Given the description of an element on the screen output the (x, y) to click on. 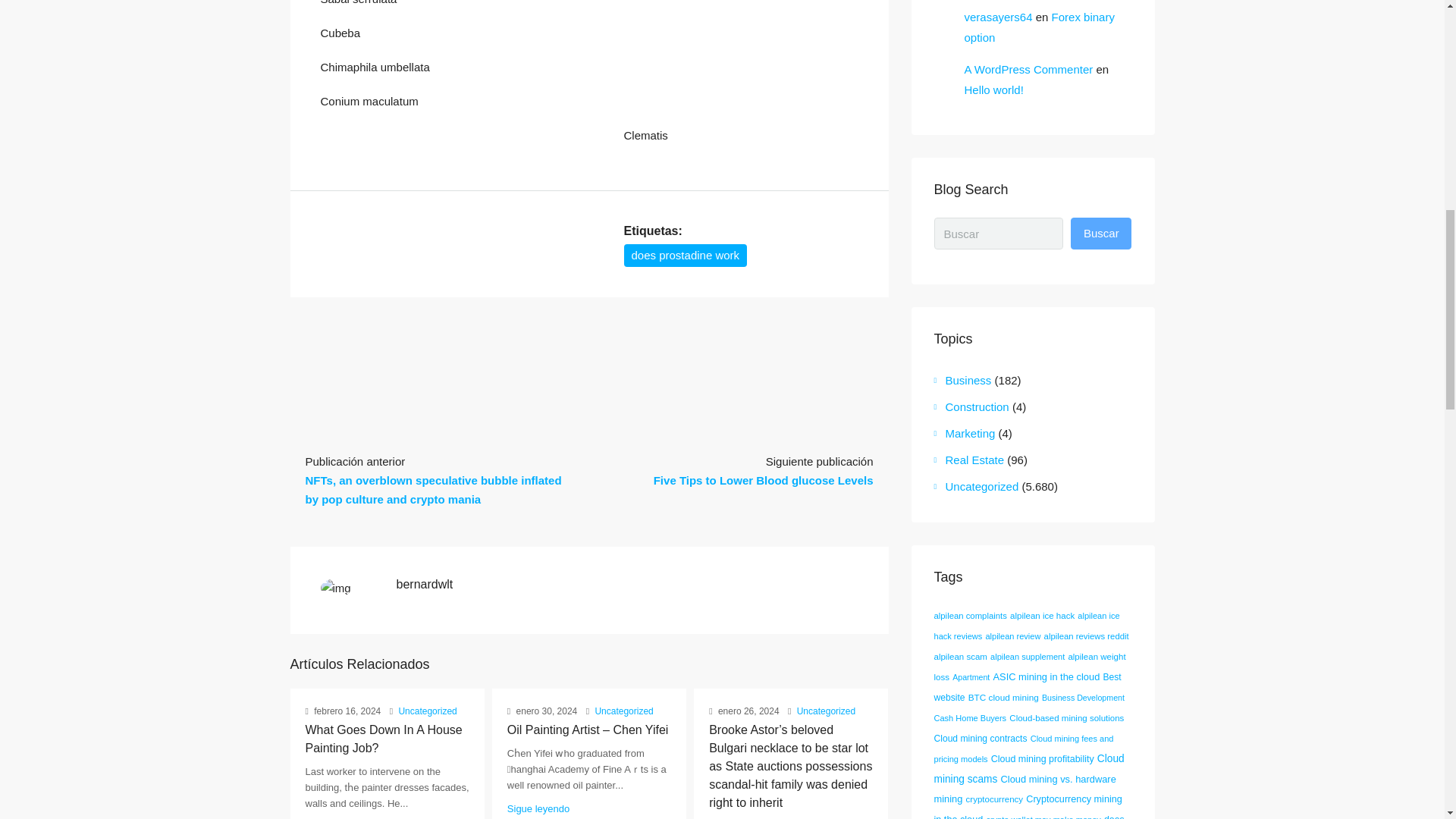
Forex binary option (1039, 27)
Uncategorized (427, 710)
Uncategorized (826, 710)
What Goes Down In A House Painting Job? (382, 738)
Uncategorized (623, 710)
Five Tips to Lower Blood glucose Levels (763, 480)
Sigue leyendo (537, 808)
A WordPress Commenter (1028, 69)
verasayers64 (997, 16)
